Given the description of an element on the screen output the (x, y) to click on. 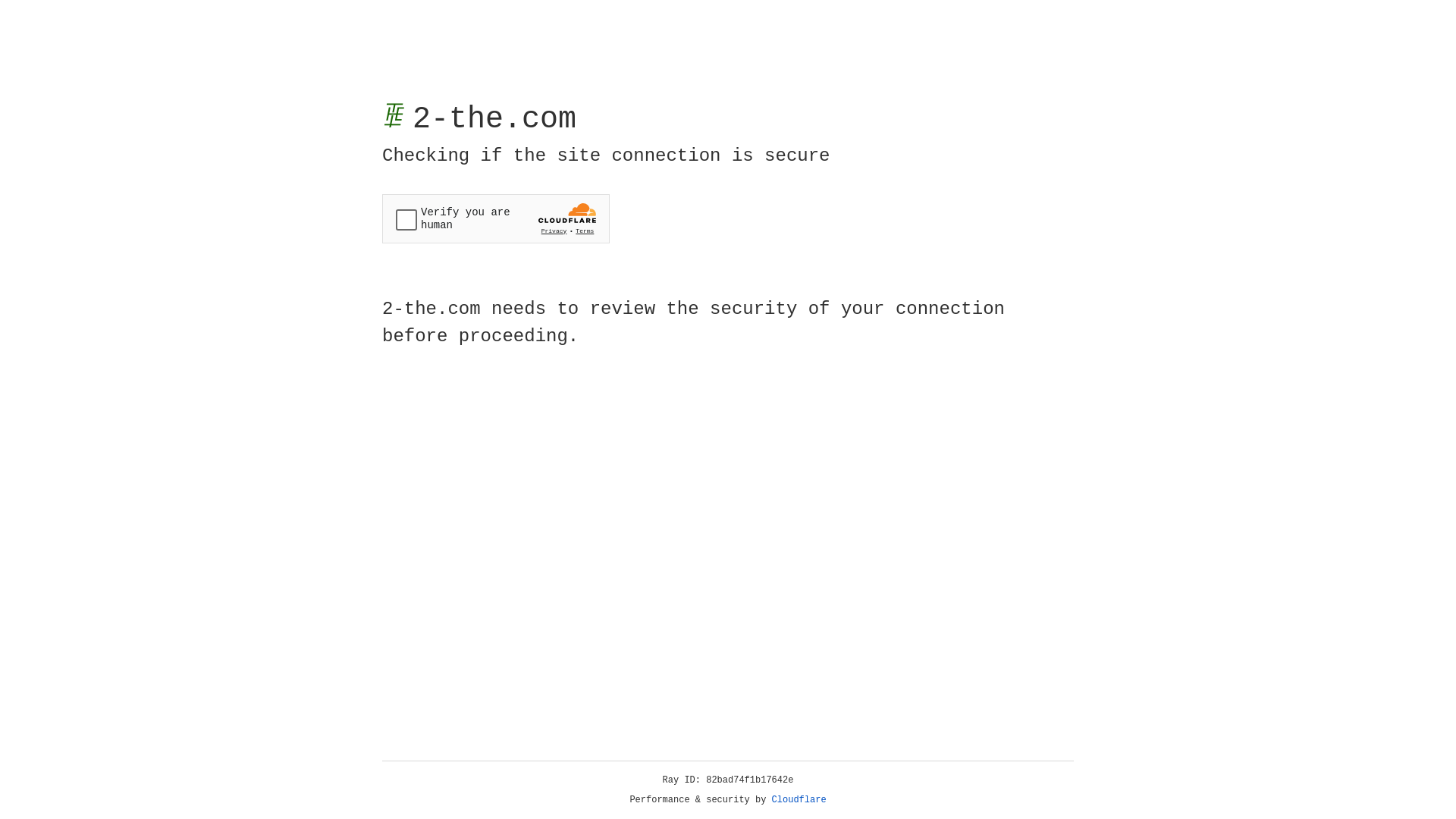
Cloudflare Element type: text (798, 799)
Widget containing a Cloudflare security challenge Element type: hover (495, 218)
